Given the description of an element on the screen output the (x, y) to click on. 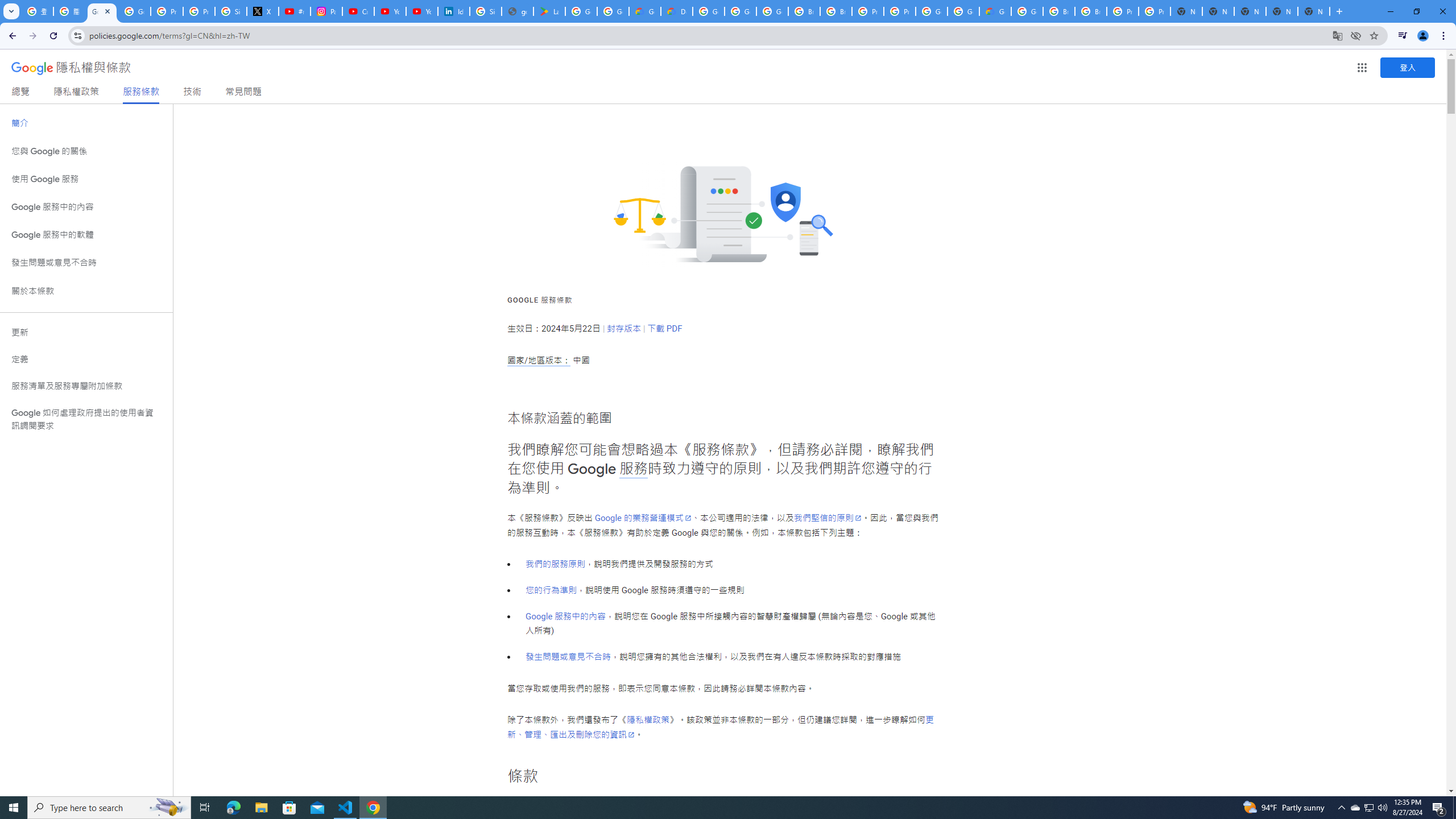
Control your music, videos, and more (1402, 35)
Sign in - Google Accounts (230, 11)
Address and search bar (707, 35)
Browse Chrome as a guest - Computer - Google Chrome Help (836, 11)
Google Workspace - Specific Terms (613, 11)
Browse Chrome as a guest - Computer - Google Chrome Help (1091, 11)
